Given the description of an element on the screen output the (x, y) to click on. 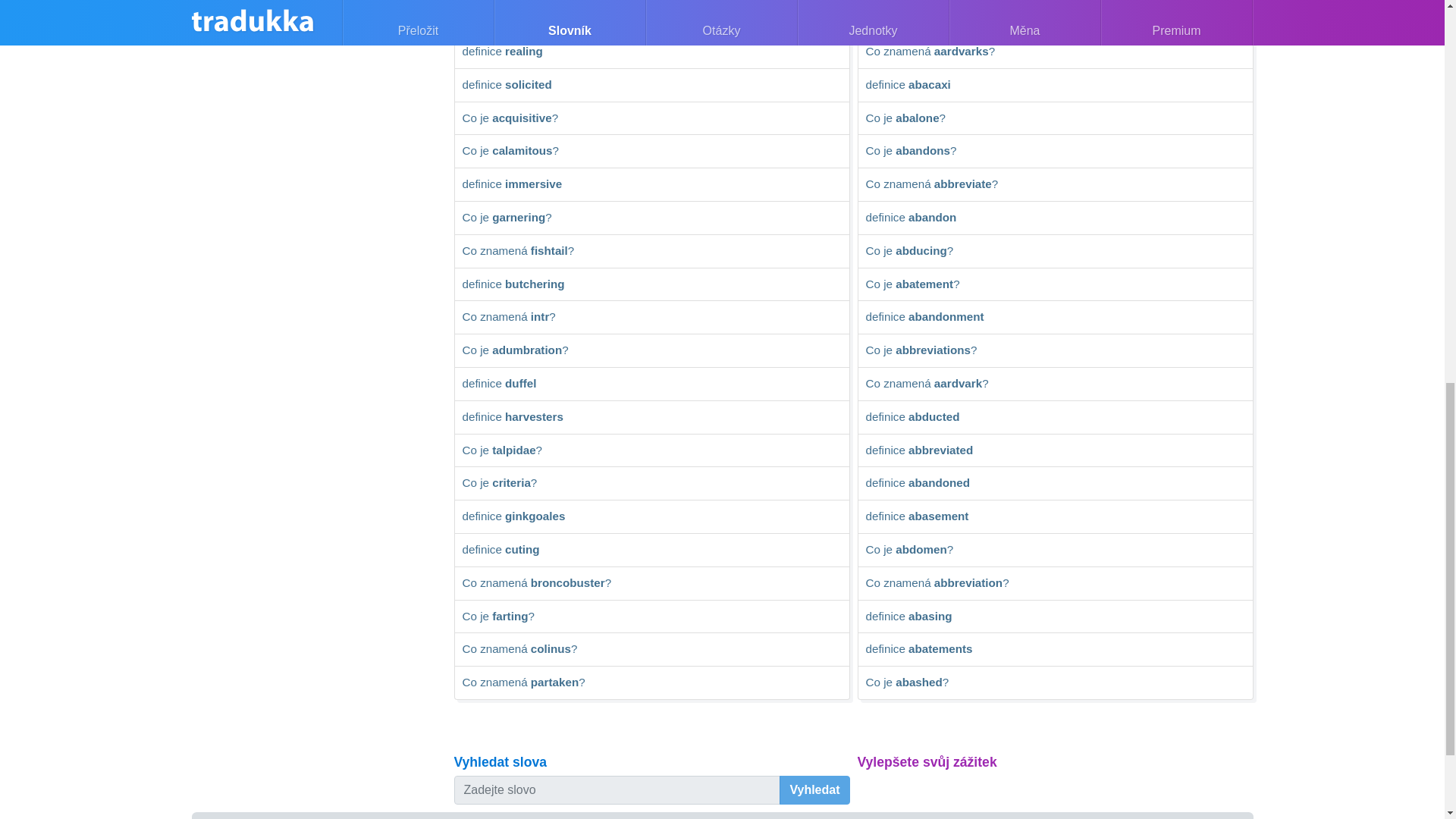
definice religiosity (650, 19)
Co je talpidae? (650, 450)
Co je farting? (650, 616)
definice ginkgoales (650, 516)
Co je calamitous? (650, 151)
definice immersive (650, 184)
definice solicited (650, 85)
Co je criteria? (650, 483)
definice cuting (650, 550)
definice butchering (650, 285)
definice duffel (650, 384)
definice realing (650, 52)
Co je acquisitive? (650, 118)
Co je garnering? (650, 218)
